Given the description of an element on the screen output the (x, y) to click on. 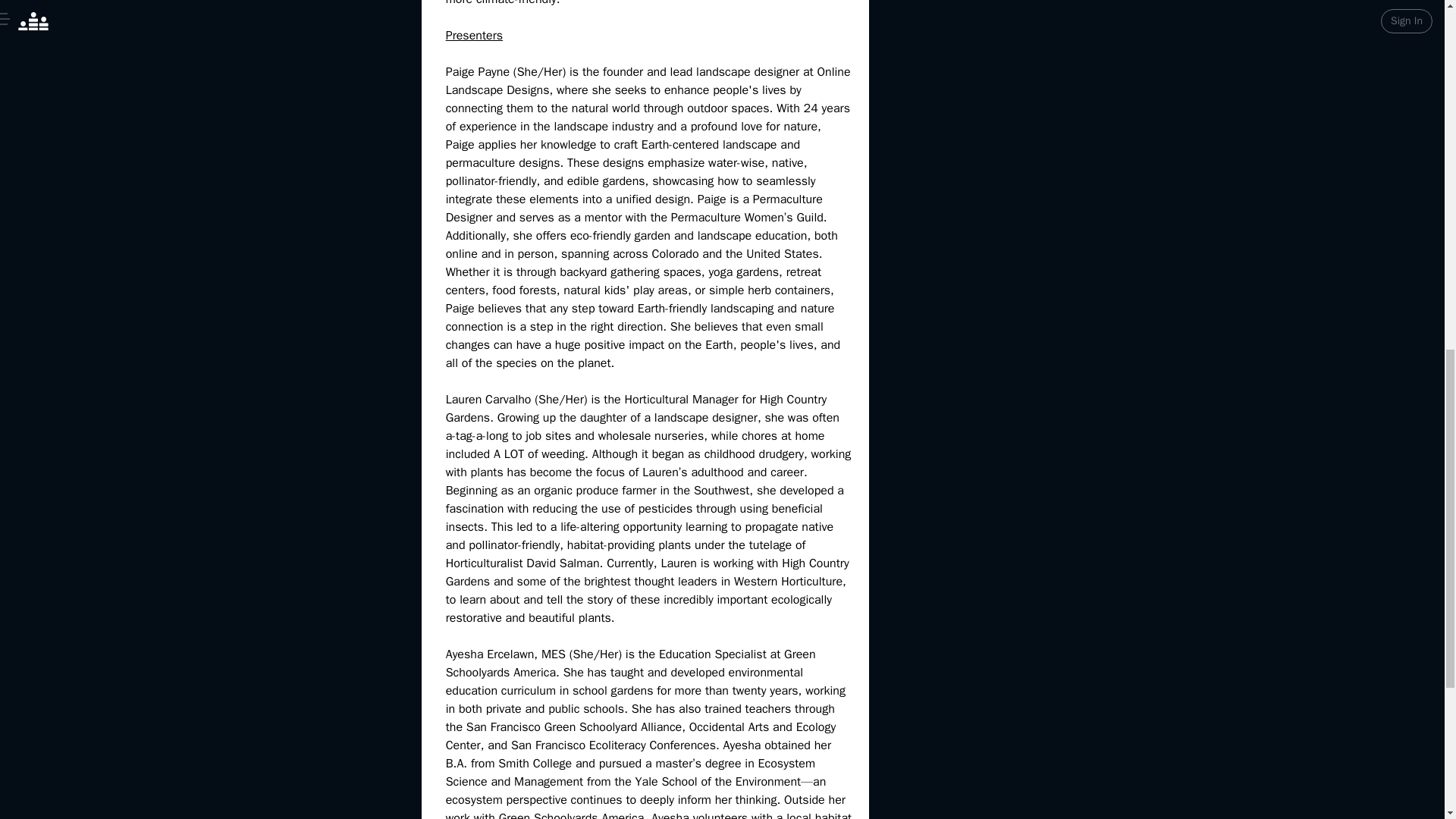
Open in Android app (721, 39)
